Given the description of an element on the screen output the (x, y) to click on. 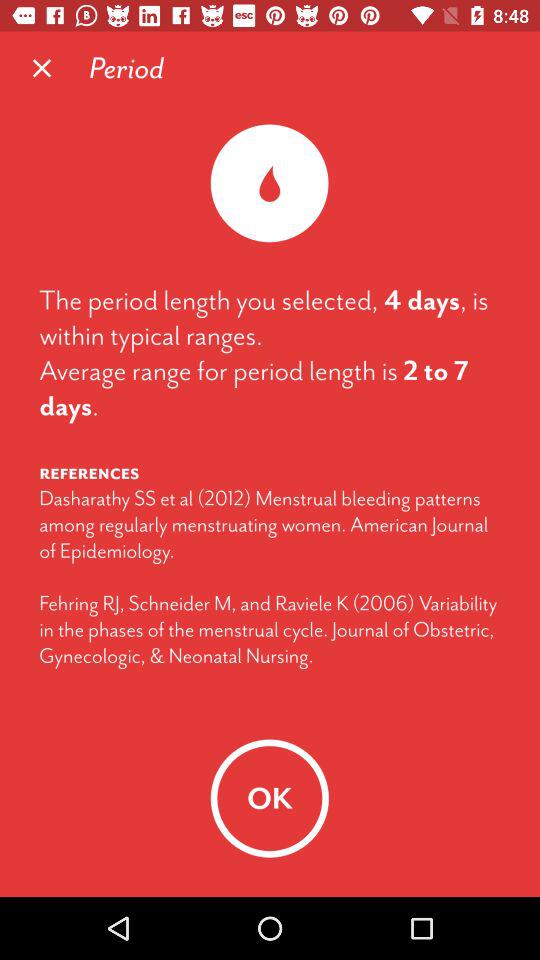
launch the icon above the period length item (42, 68)
